Given the description of an element on the screen output the (x, y) to click on. 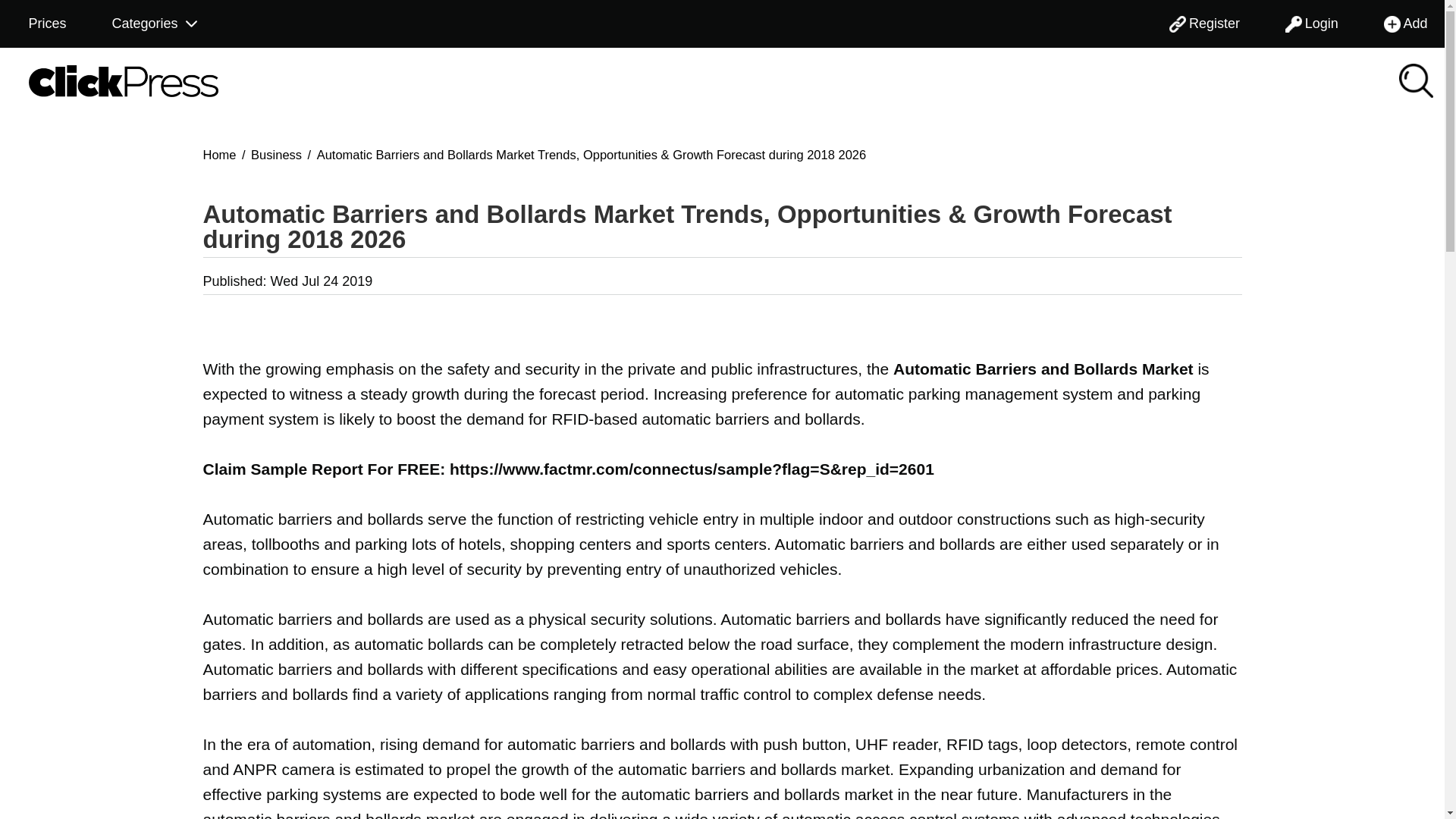
Login (1311, 23)
Categories   (155, 23)
Automatic Barriers and Bollards Market (1043, 368)
Home (219, 153)
Register (1203, 23)
Add (1406, 23)
Business (275, 153)
Prices (46, 23)
